Given the description of an element on the screen output the (x, y) to click on. 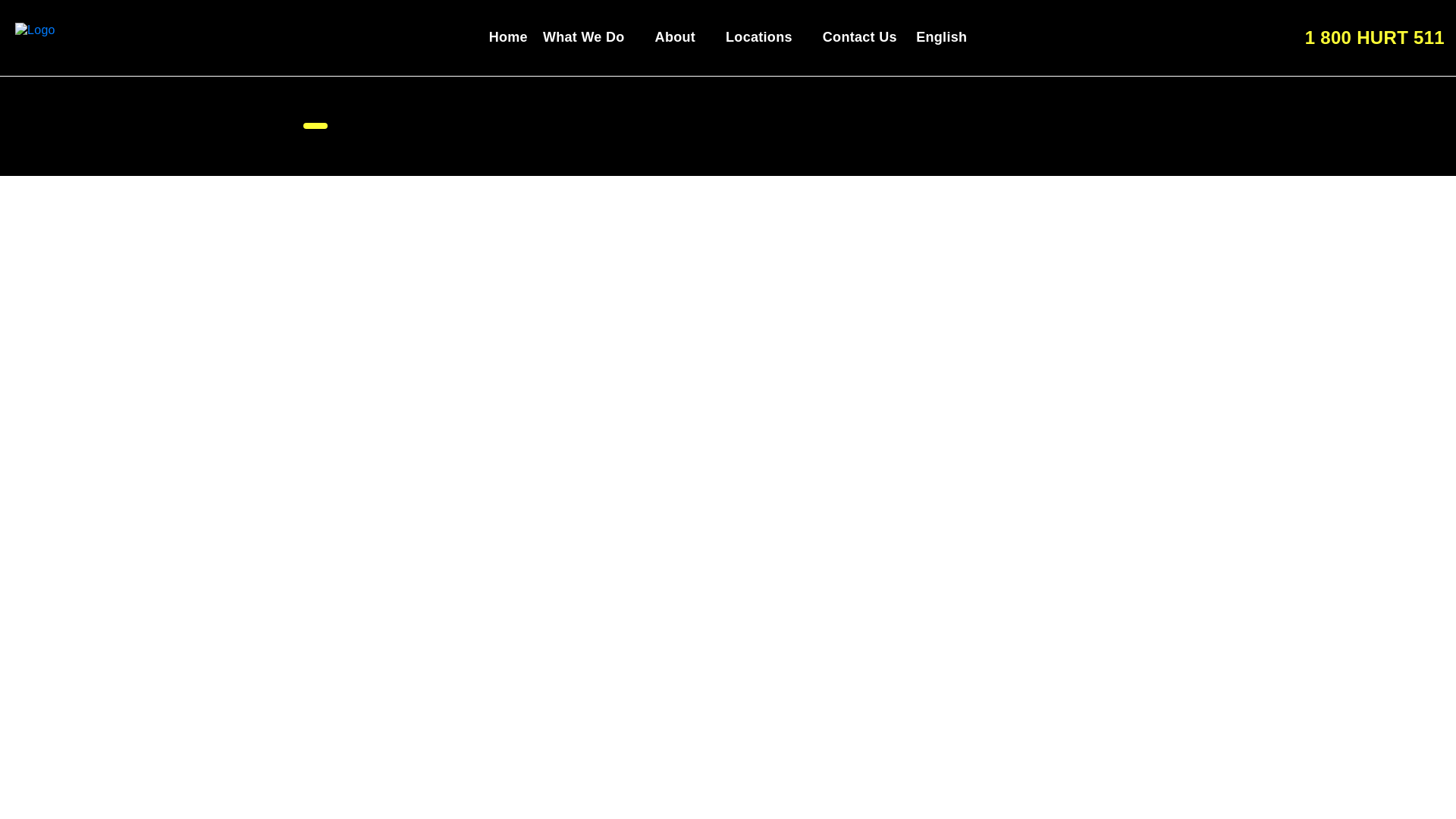
English (940, 37)
Locations (766, 37)
Home (508, 37)
English (940, 37)
1 800 HURT 511 (1361, 37)
What We Do (591, 37)
Contact Us (859, 37)
About (682, 37)
